Given the description of an element on the screen output the (x, y) to click on. 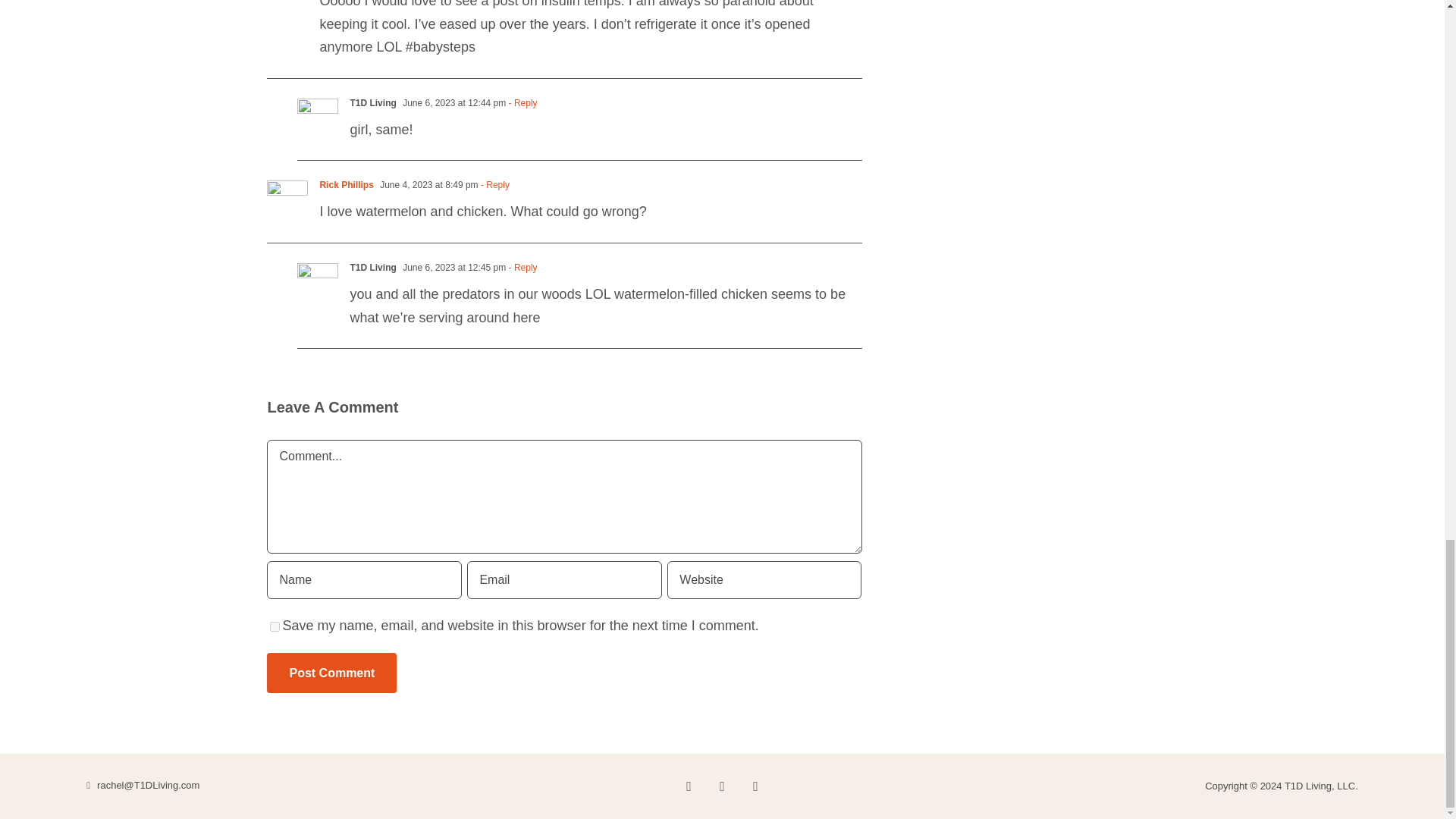
- Reply (521, 267)
Instagram (689, 786)
yes (274, 626)
Pinterest (722, 786)
YouTube (755, 786)
- Reply (521, 102)
Post Comment (331, 672)
- Reply (494, 184)
Rick Phillips (345, 184)
Post Comment (331, 672)
